Given the description of an element on the screen output the (x, y) to click on. 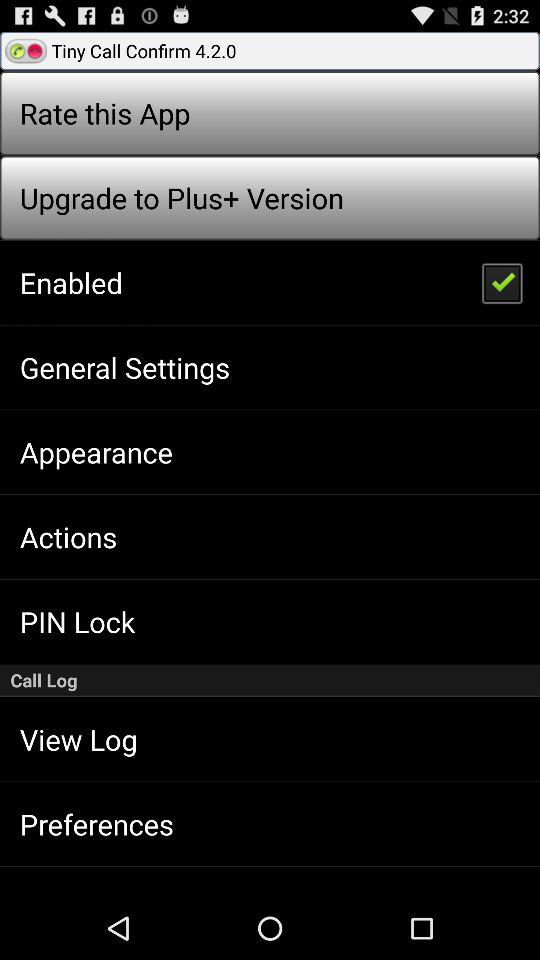
flip until upgrade to plus icon (181, 197)
